Given the description of an element on the screen output the (x, y) to click on. 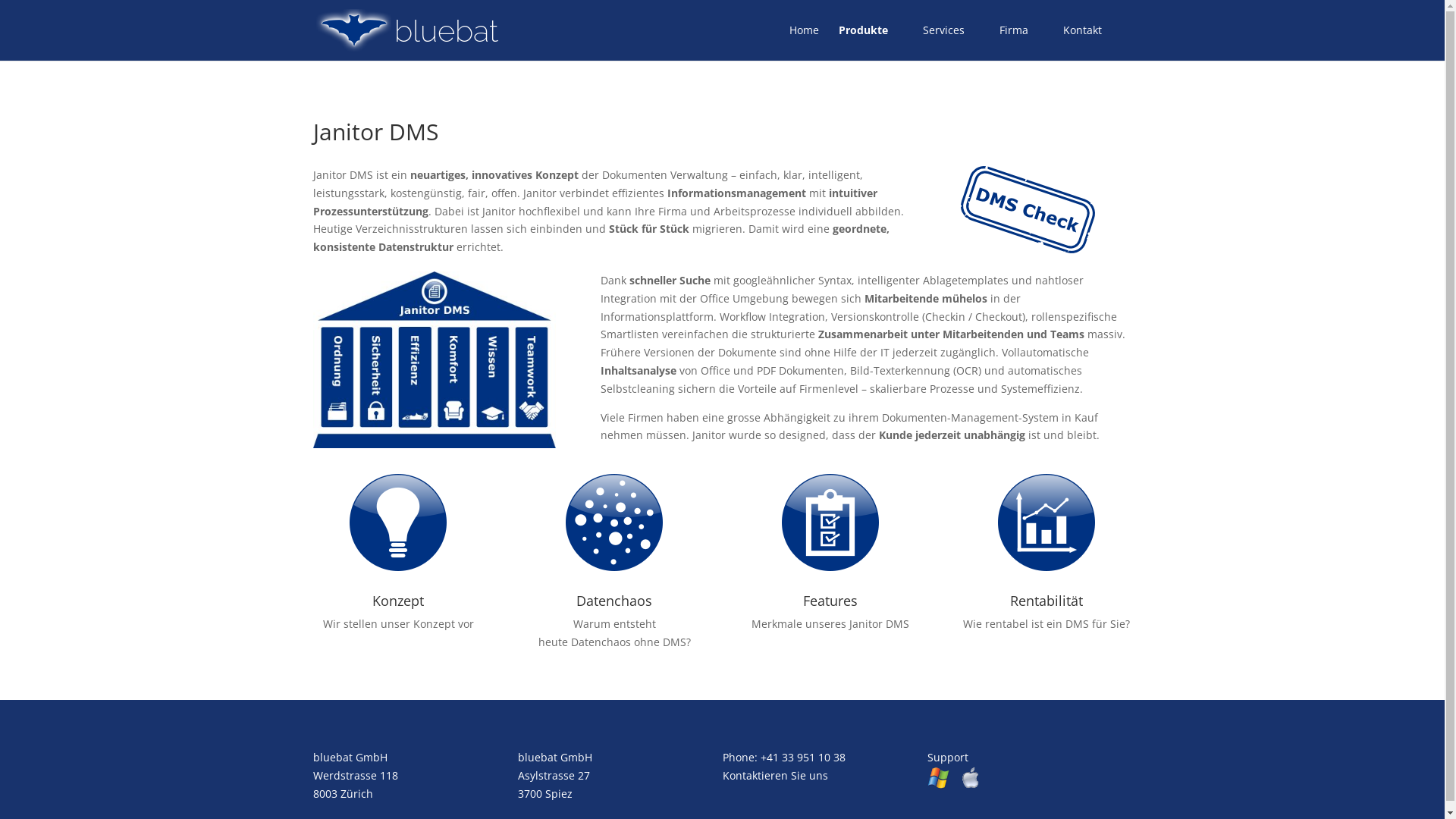
Services Element type: text (950, 42)
Kontaktieren Sie uns Element type: text (774, 775)
Kontakt Element type: text (1082, 42)
Features Element type: text (830, 600)
Firma Element type: text (1021, 42)
Konzept Element type: text (397, 600)
Datenchaos Element type: text (614, 600)
Produkte Element type: text (870, 42)
Home Element type: text (803, 42)
